Given the description of an element on the screen output the (x, y) to click on. 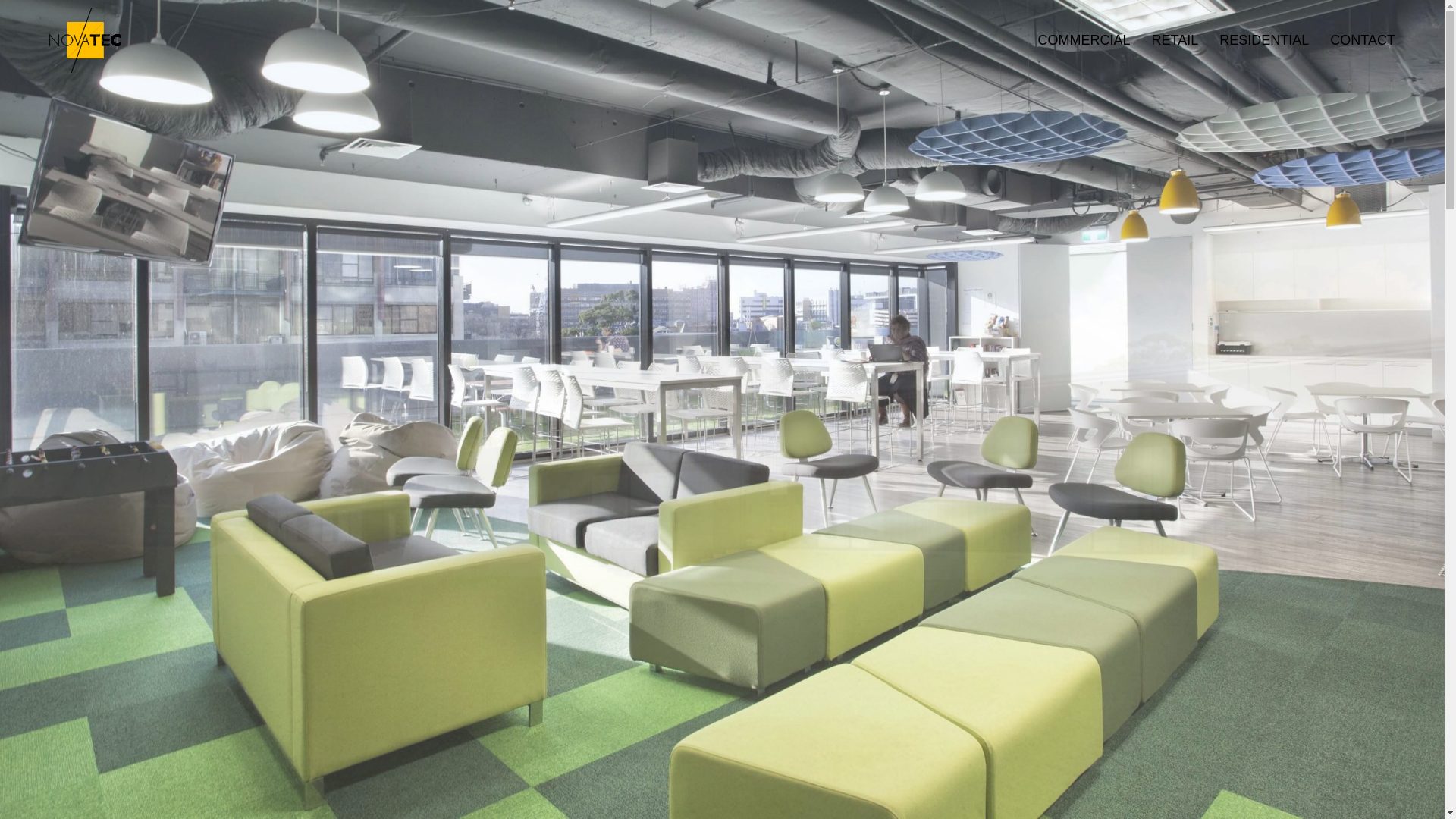
RESIDENTIAL Element type: text (1253, 40)
RETAIL Element type: text (1164, 40)
CONTACT Element type: text (1351, 40)
COMMERCIAL Element type: text (1073, 40)
